Given the description of an element on the screen output the (x, y) to click on. 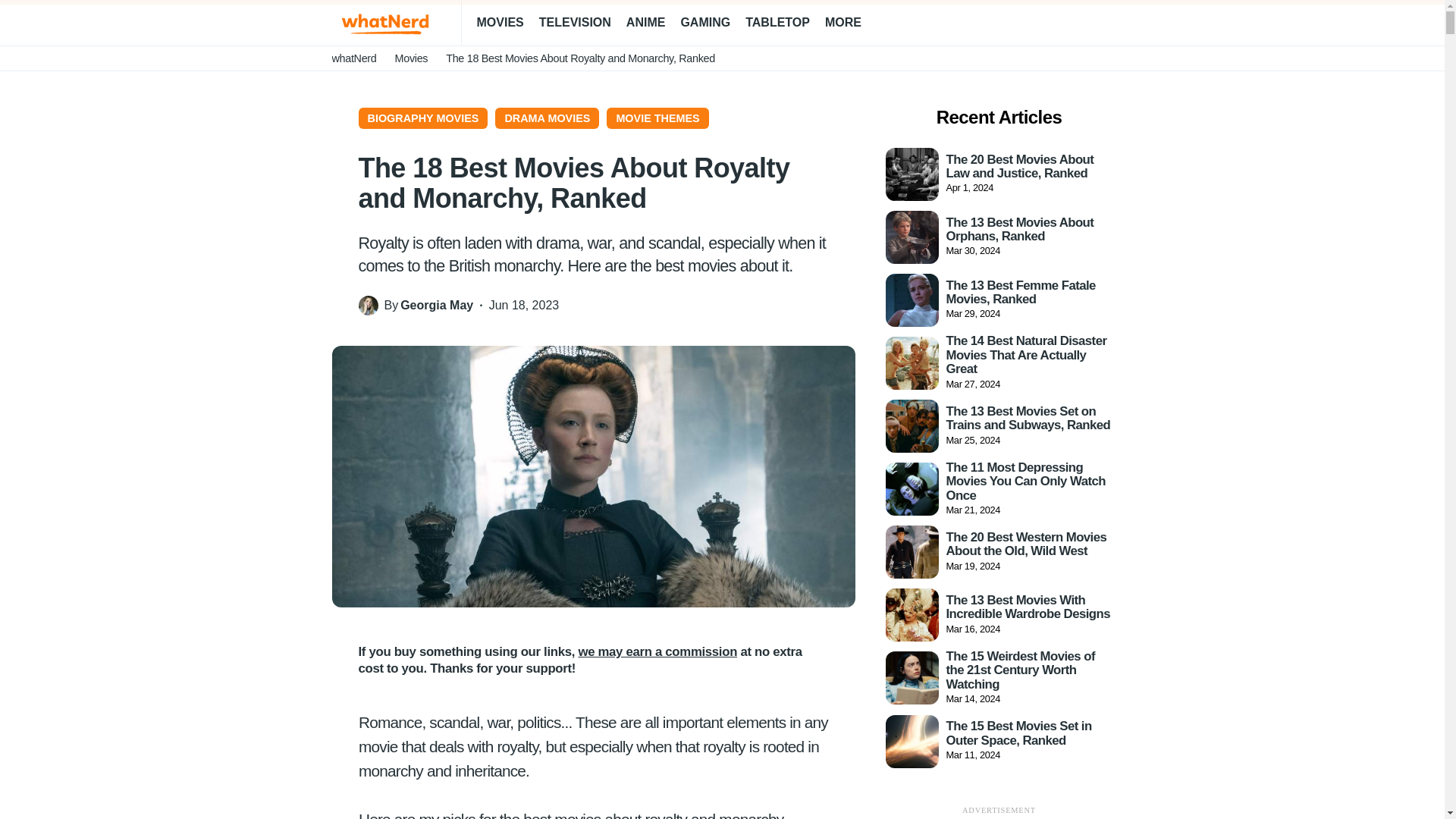
View all posts by Georgia May (436, 305)
whatNerd (354, 57)
TABLETOP (777, 22)
TELEVISION (574, 22)
MORE (850, 22)
MOVIES (499, 22)
GAMING (704, 22)
ANIME (645, 22)
